Given the description of an element on the screen output the (x, y) to click on. 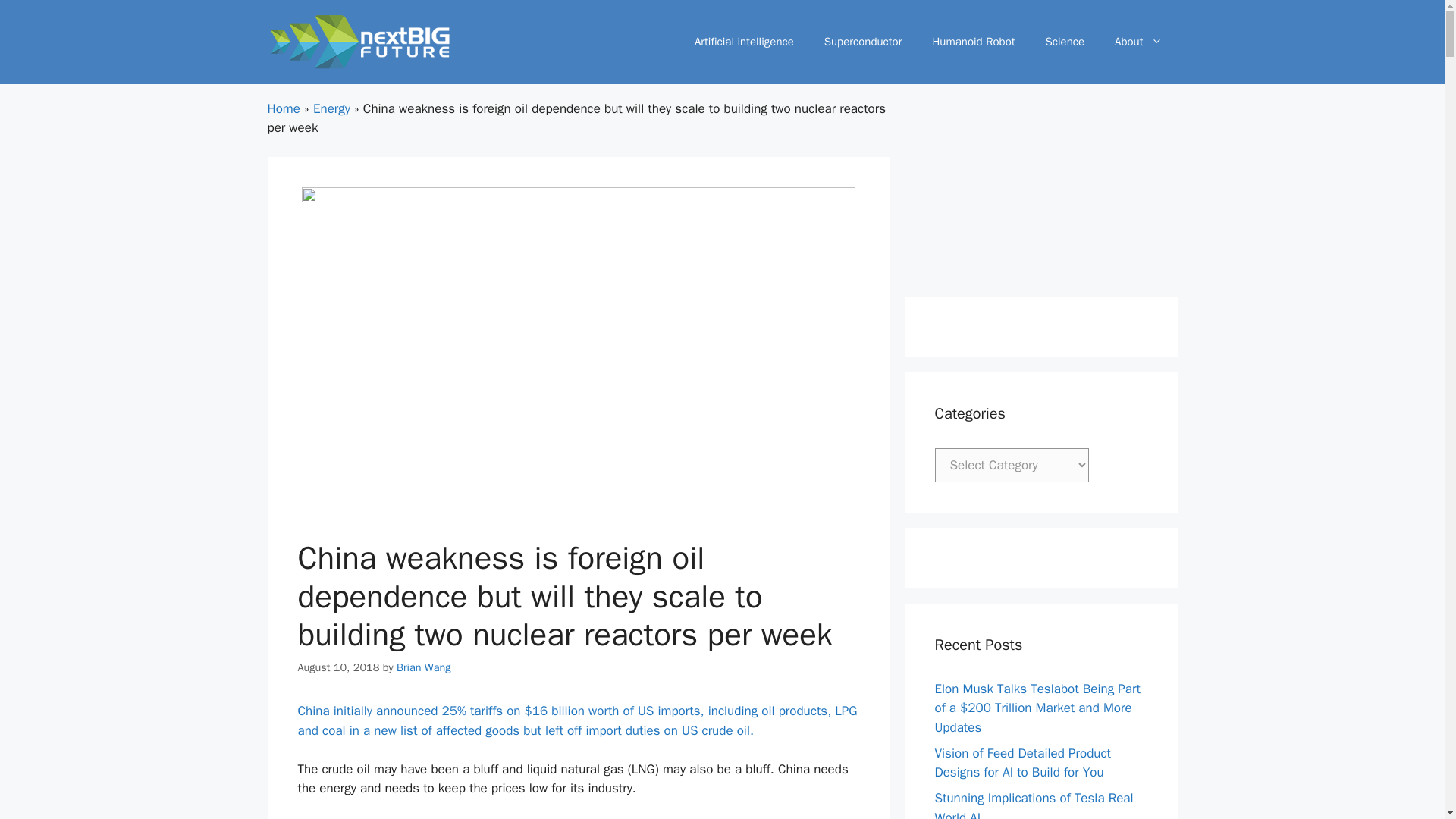
Science (1065, 41)
Home (282, 108)
About (1137, 41)
Brian Wang (423, 667)
View all posts by Brian Wang (423, 667)
Superconductor (863, 41)
Humanoid Robot (973, 41)
Artificial intelligence (744, 41)
Energy (331, 108)
